Given the description of an element on the screen output the (x, y) to click on. 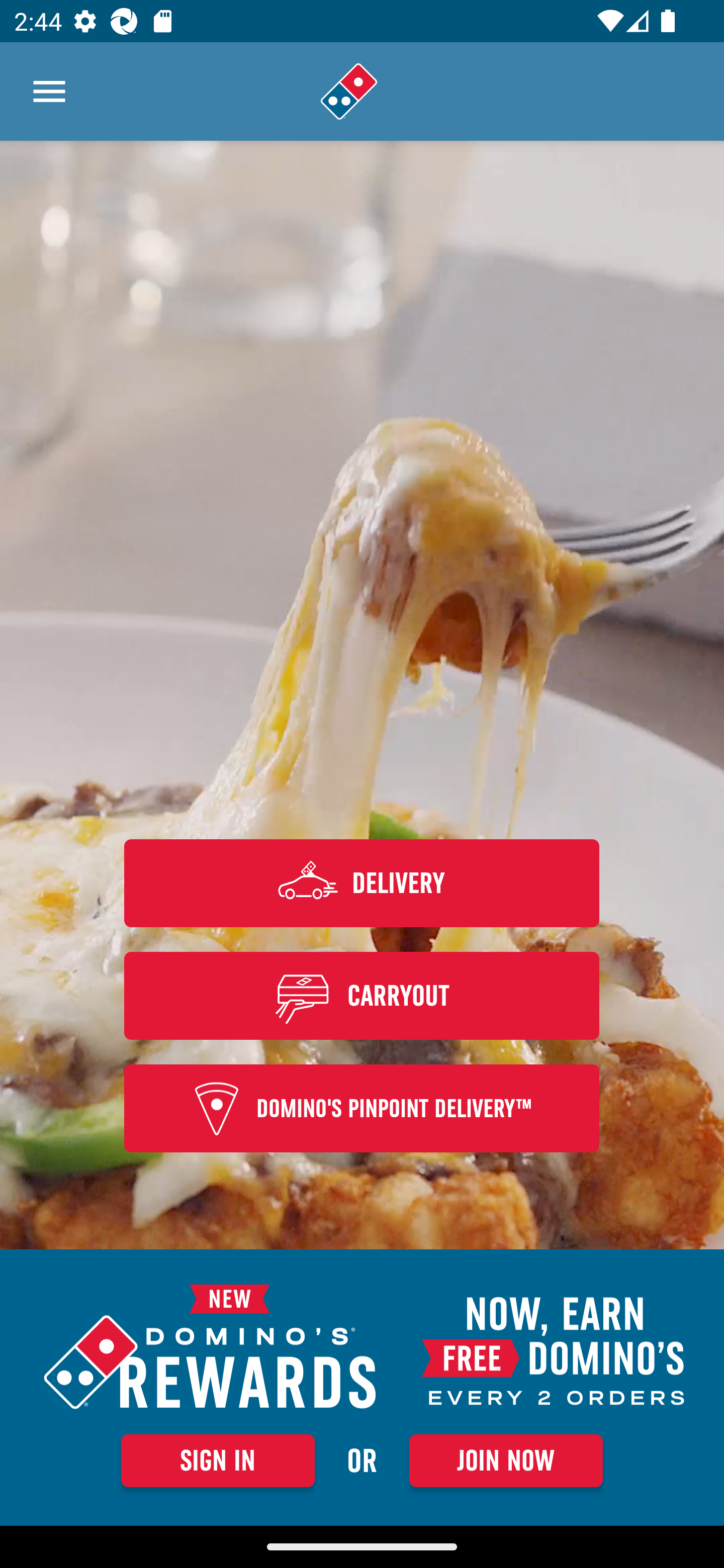
Expand Menu (49, 91)
DELIVERY (361, 882)
CARRYOUT (361, 995)
DOMINO'S PINPOINT DELIVERY™ (361, 1108)
SIGN IN (217, 1460)
JOIN NOW (506, 1460)
